Given the description of an element on the screen output the (x, y) to click on. 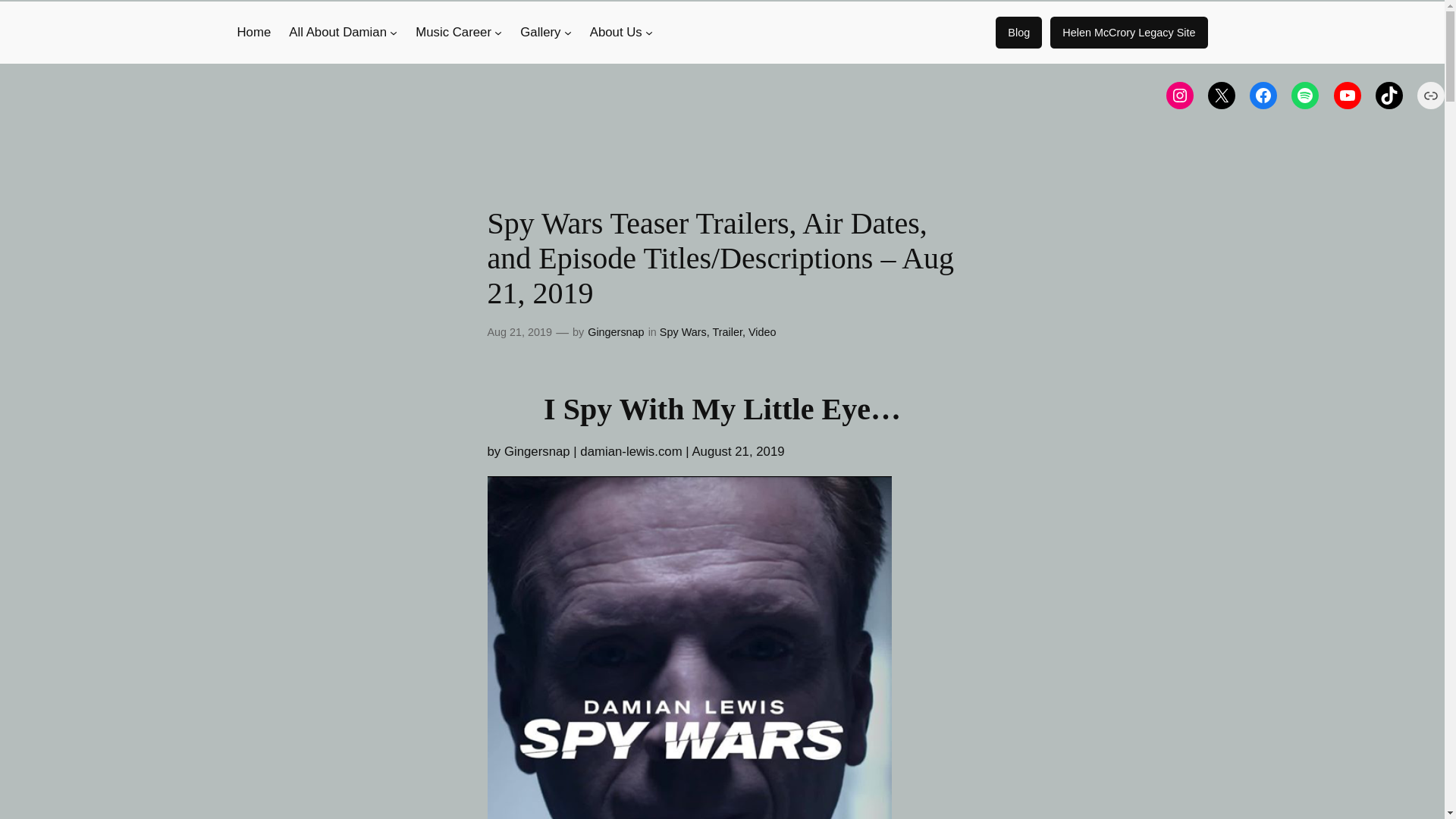
About Us (615, 32)
Music Career (453, 32)
All About Damian (337, 32)
Home (252, 32)
Gallery (539, 32)
